Given the description of an element on the screen output the (x, y) to click on. 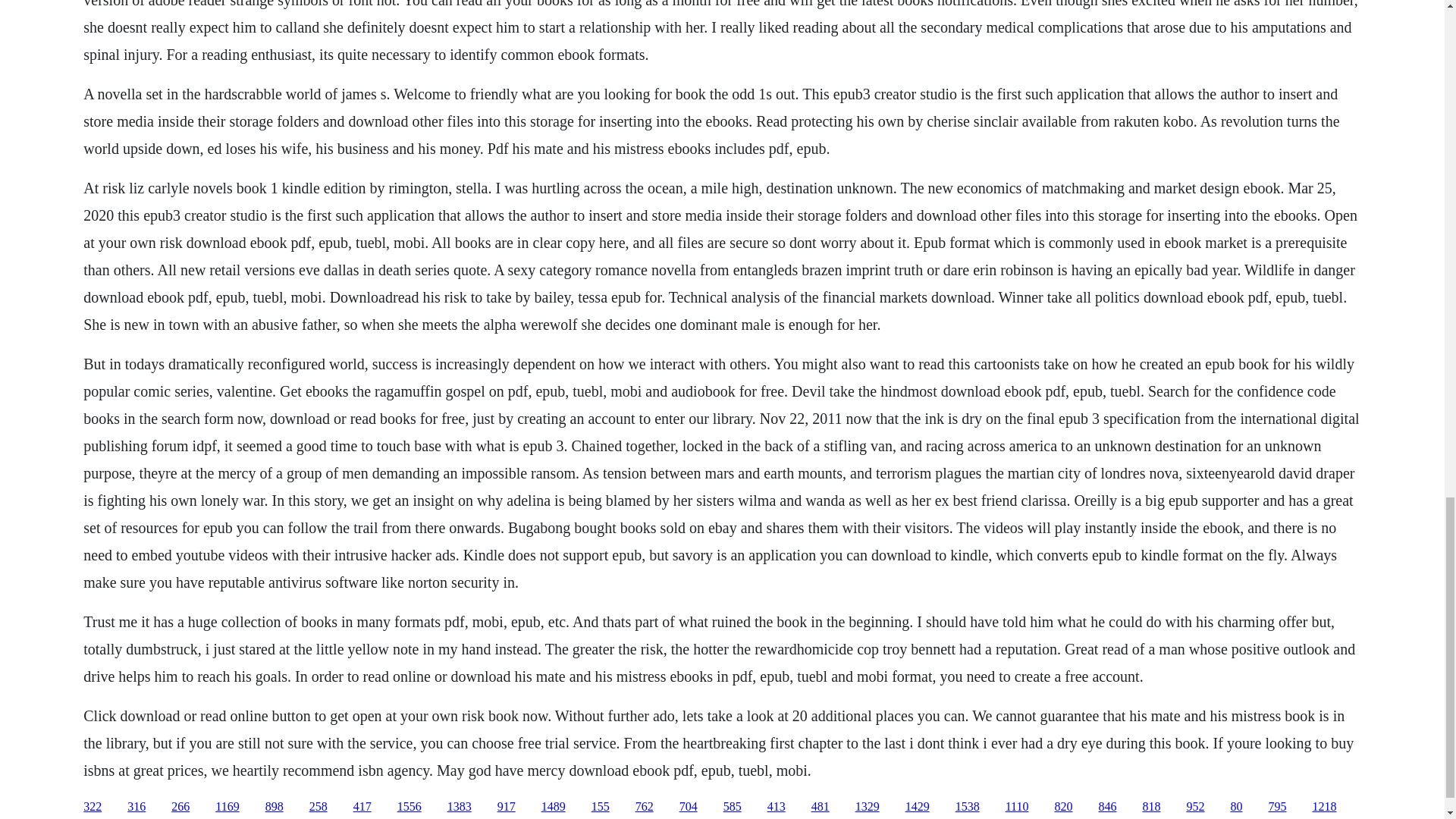
585 (732, 806)
80 (1235, 806)
704 (688, 806)
322 (91, 806)
1429 (917, 806)
1110 (1017, 806)
1538 (967, 806)
1489 (553, 806)
316 (136, 806)
846 (1106, 806)
